Given the description of an element on the screen output the (x, y) to click on. 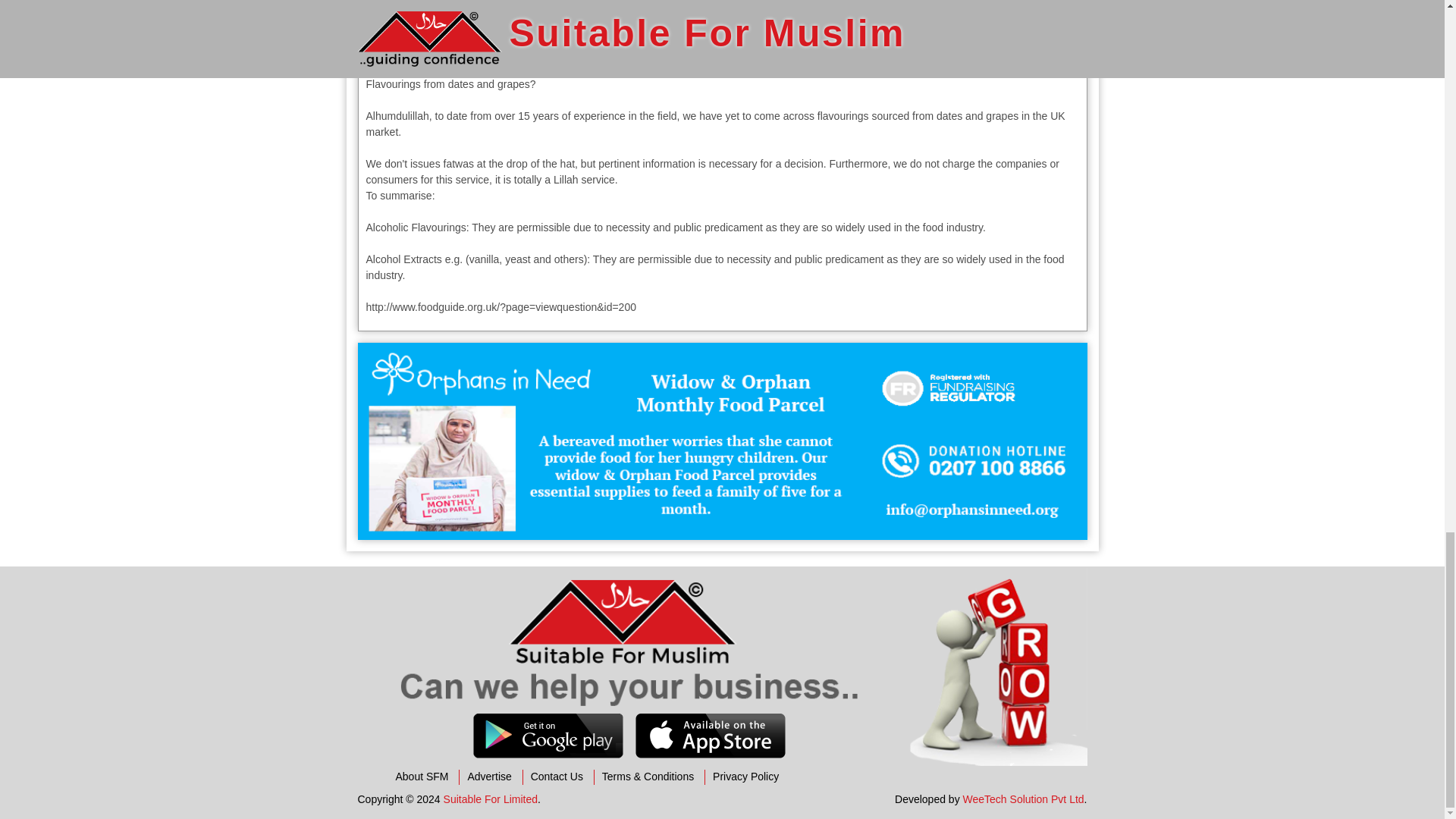
Advertise (489, 776)
Privacy Policy (745, 776)
Contact Us (557, 776)
About SFM (422, 776)
WeeTech Solution Pvt Ltd (1023, 799)
